Given the description of an element on the screen output the (x, y) to click on. 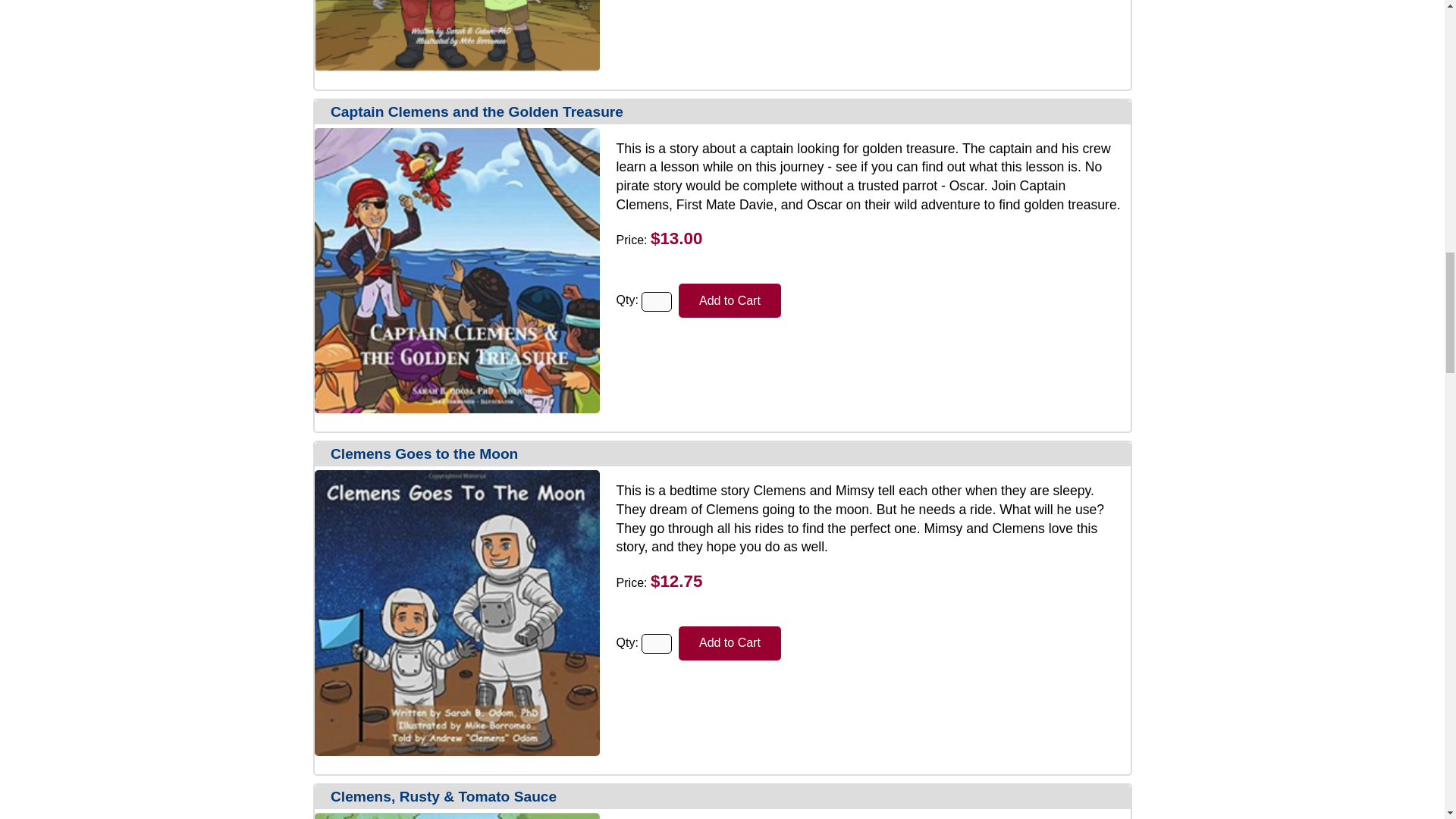
Add to Cart (729, 300)
Add to Cart (729, 643)
Add to Cart (729, 300)
Add to Cart (729, 643)
